Given the description of an element on the screen output the (x, y) to click on. 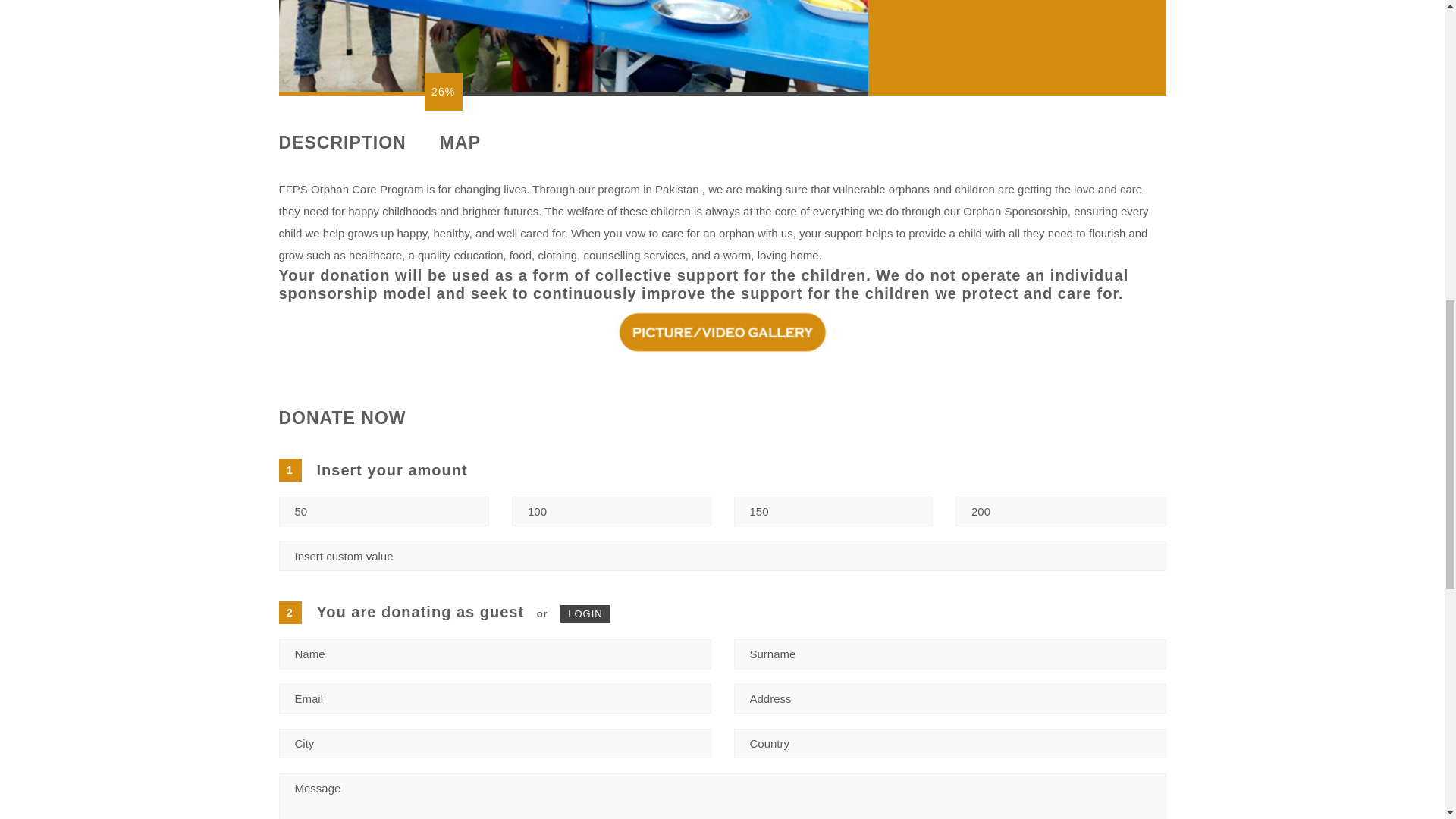
150 (833, 511)
100 (611, 511)
200 (1060, 511)
50 (384, 511)
